Given the description of an element on the screen output the (x, y) to click on. 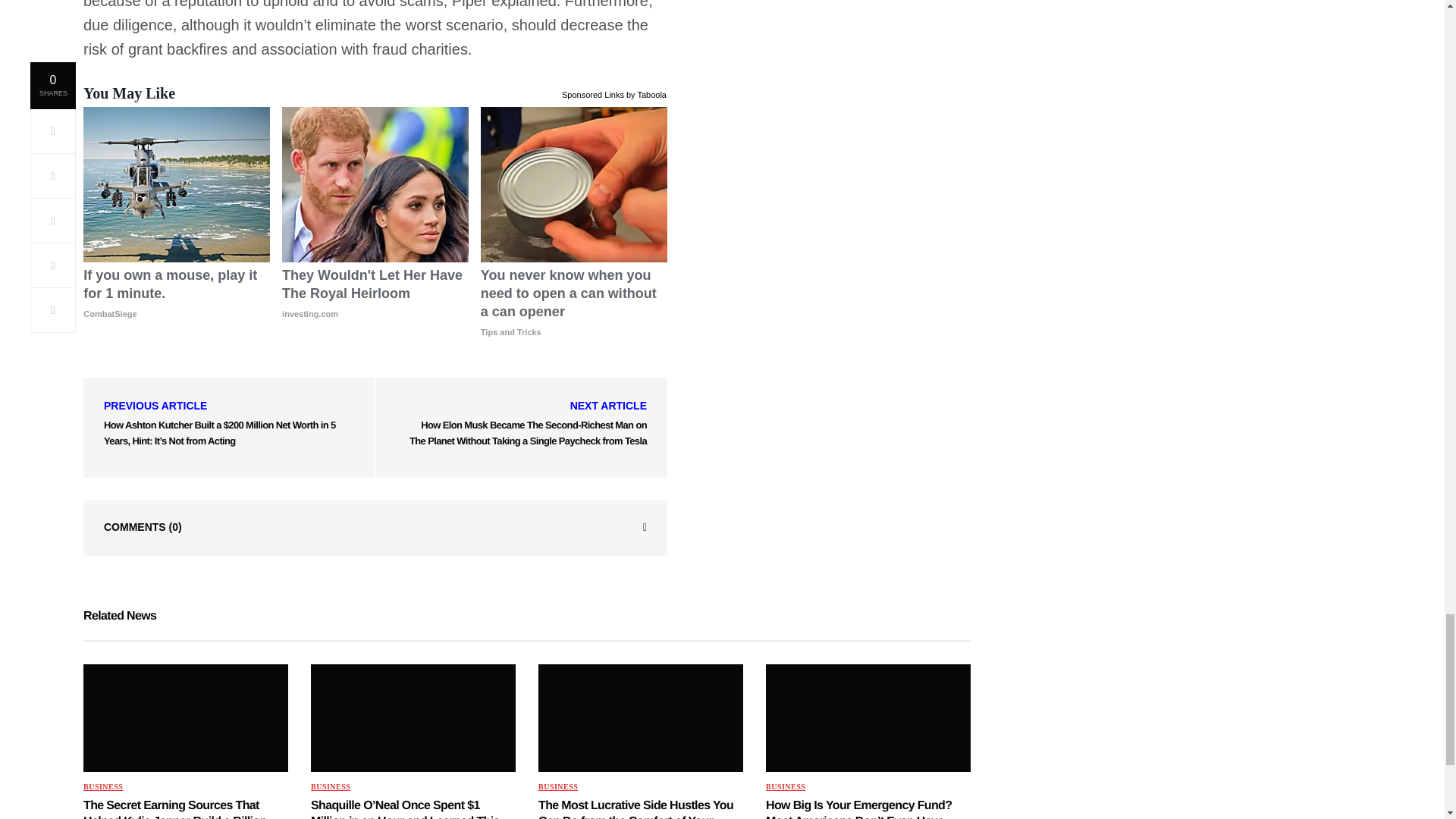
If you own a mouse, play it for 1 minute. (175, 184)
They Wouldn't Let Her Have The Royal Heirloom (375, 184)
If you own a mouse, play it for 1 minute. (175, 294)
They Wouldn't Let Her Have The Royal Heirloom (375, 294)
Sponsored Links (593, 92)
by Taboola (646, 92)
